Given the description of an element on the screen output the (x, y) to click on. 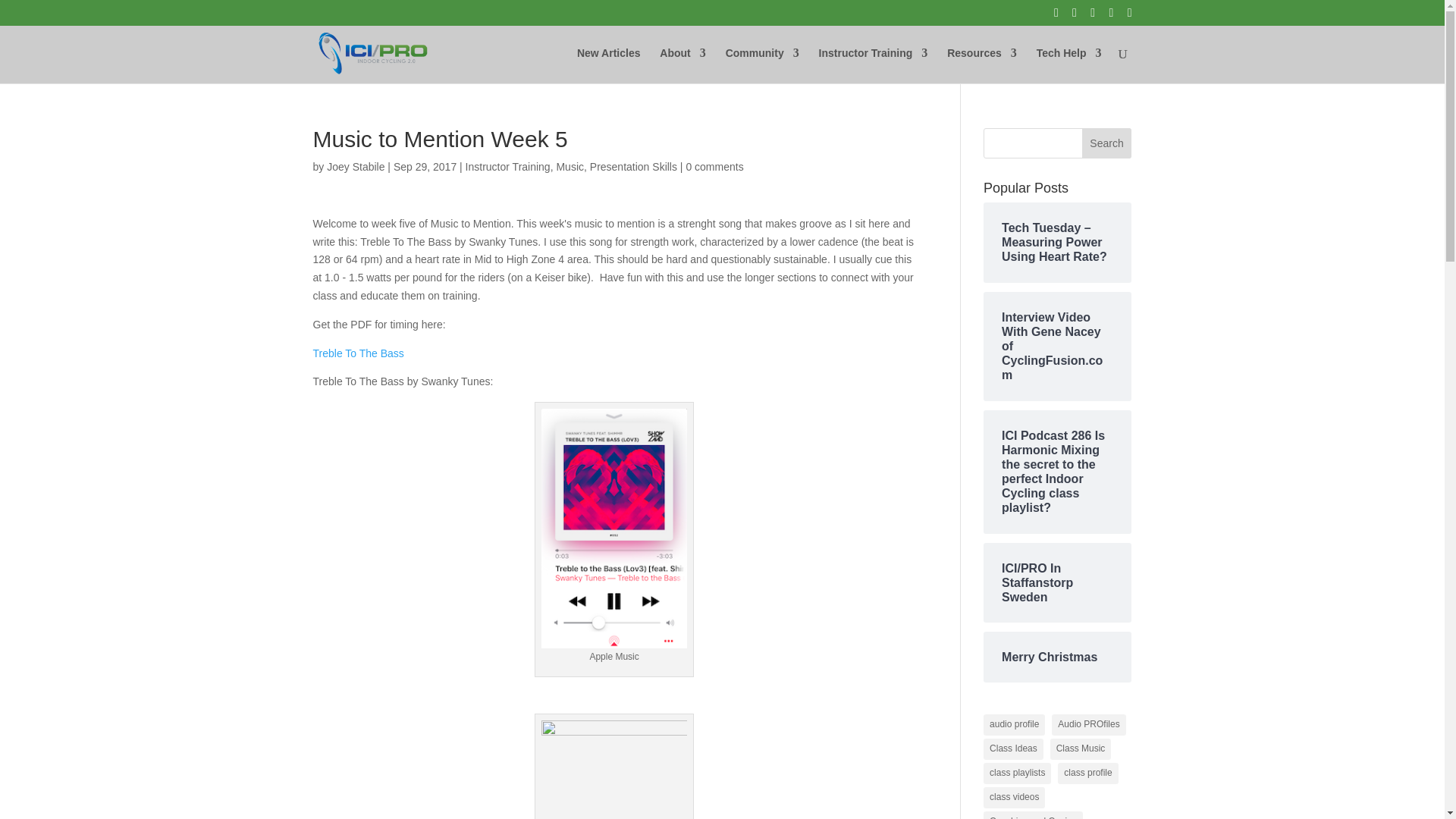
Music (569, 166)
Instructor Training (507, 166)
Posts by Joey Stabile (355, 166)
New Articles (608, 65)
Joey Stabile (355, 166)
Search (1106, 142)
Resources (981, 65)
About (681, 65)
Instructor Training (873, 65)
Tech Help (1069, 65)
